Given the description of an element on the screen output the (x, y) to click on. 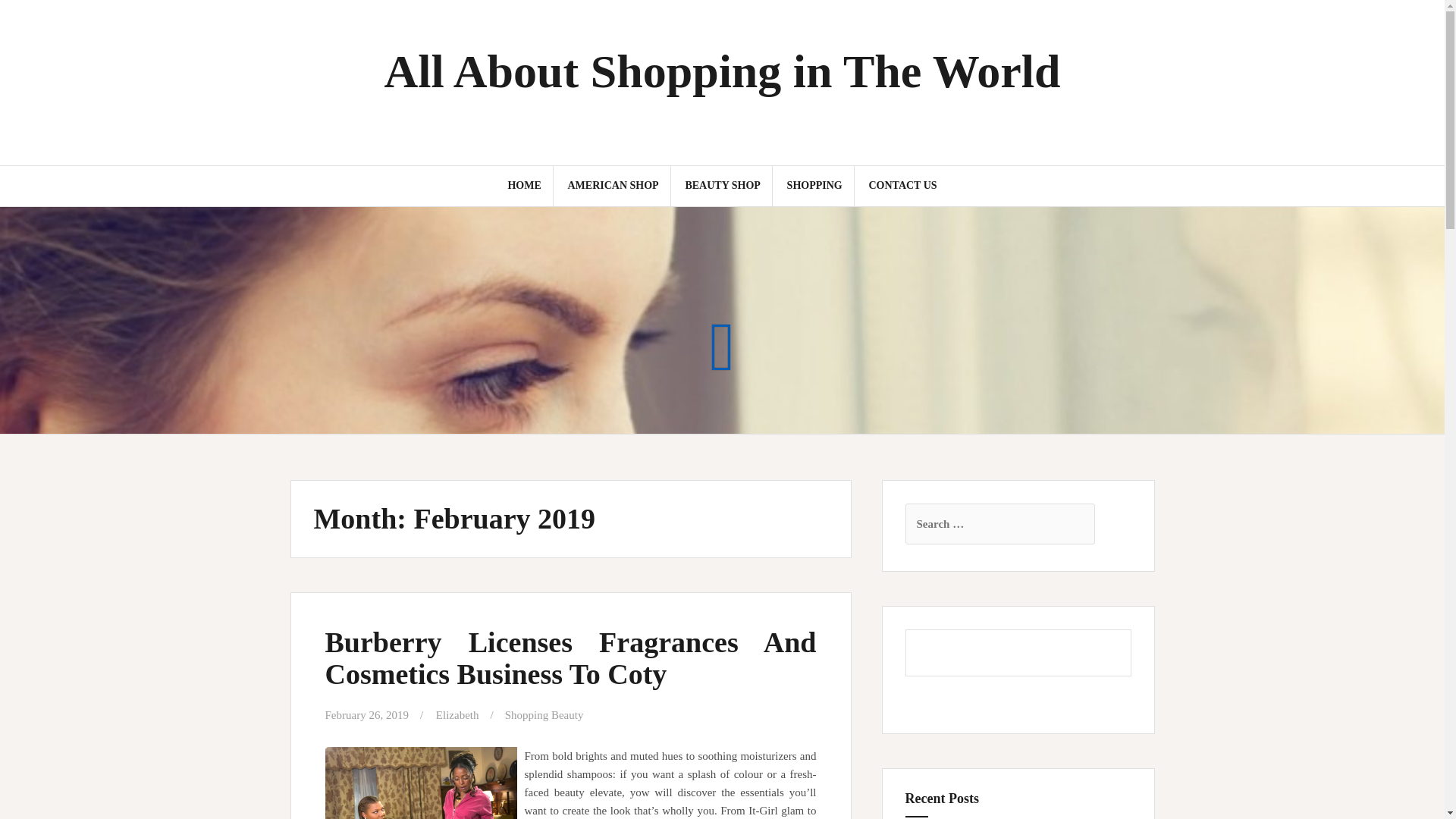
BEAUTY SHOP (722, 185)
HOME (523, 185)
SHOPPING (815, 185)
CONTACT US (901, 185)
All About Shopping in The World (722, 71)
AMERICAN SHOP (612, 185)
